Given the description of an element on the screen output the (x, y) to click on. 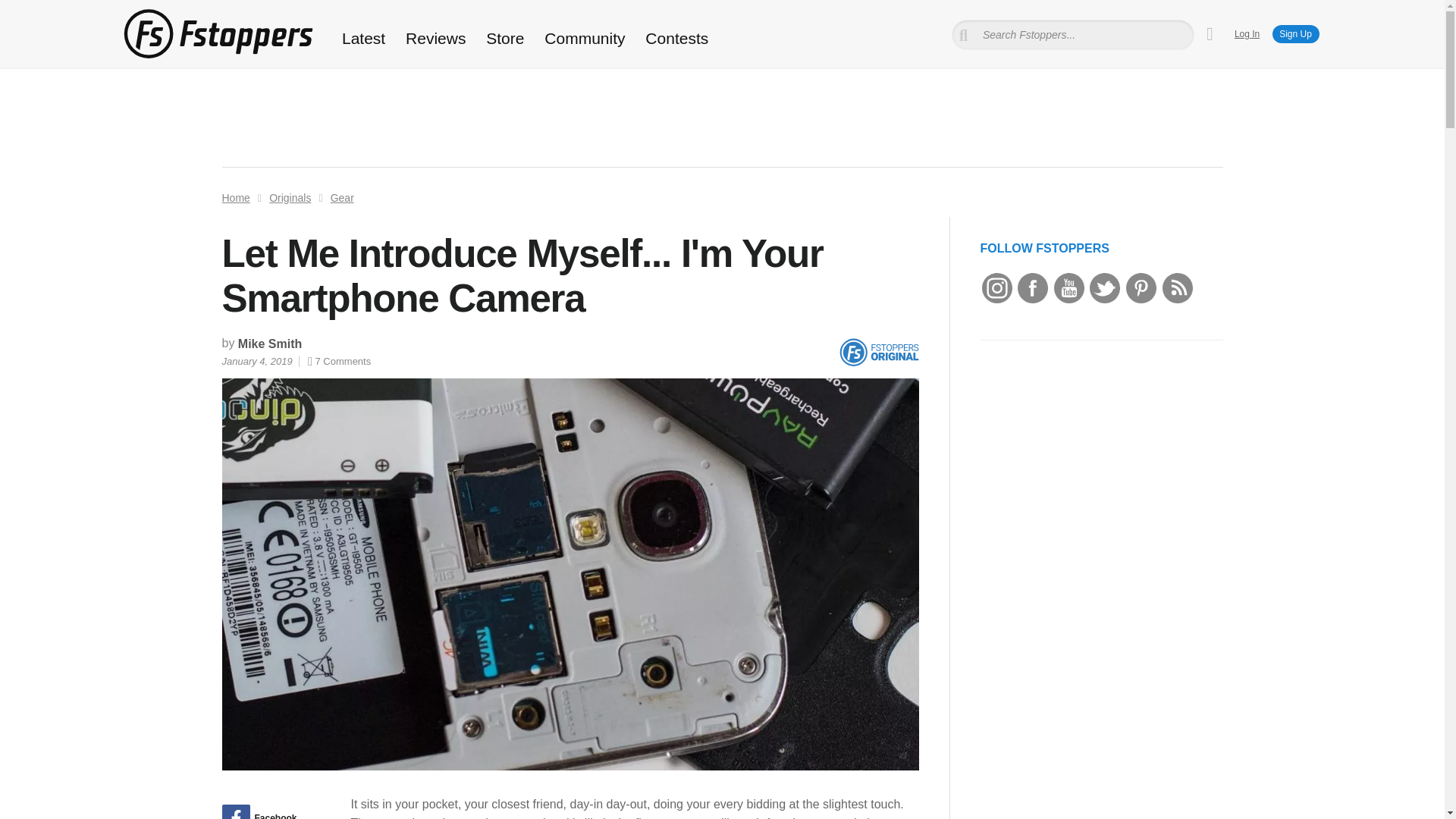
Contests (676, 37)
My Cart (1209, 34)
Gear (341, 197)
Share on Facebook (270, 811)
Community (585, 37)
Search (32, 11)
Home (234, 197)
7 Comments (339, 360)
Originals (290, 197)
Reviews (435, 37)
